Given the description of an element on the screen output the (x, y) to click on. 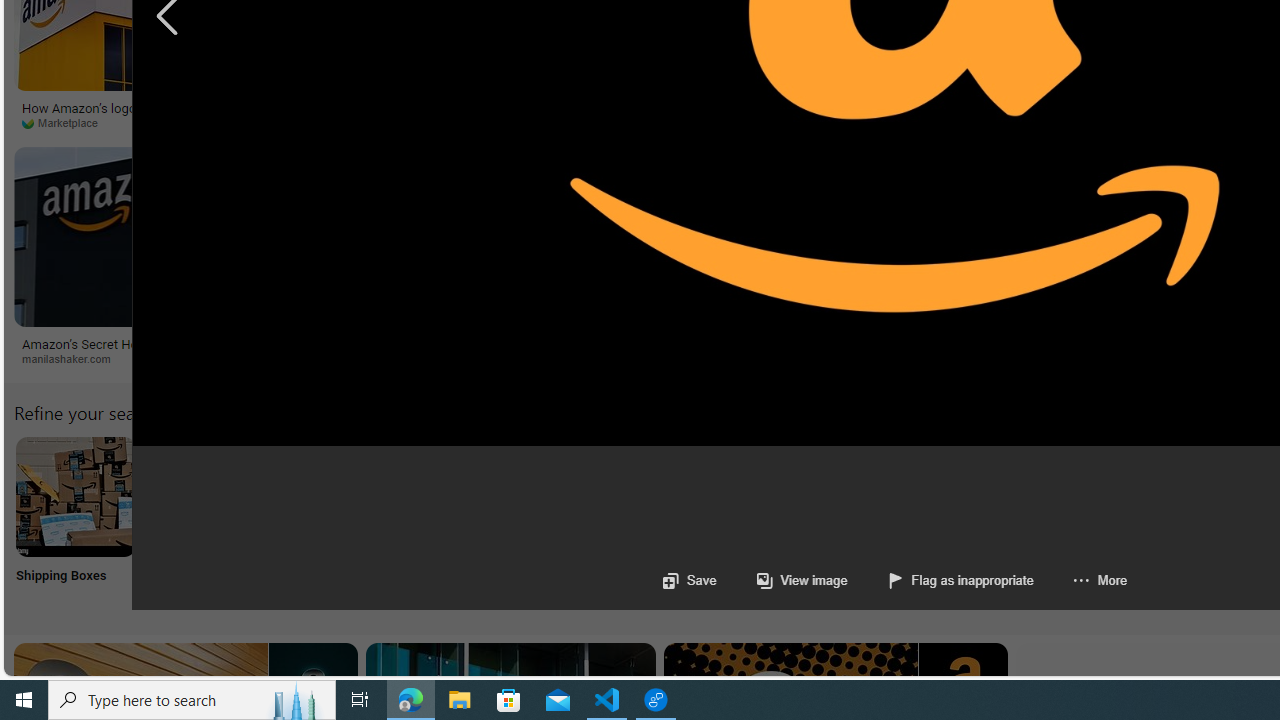
Amazon Log into My Account Log into My Account (472, 521)
